Given the description of an element on the screen output the (x, y) to click on. 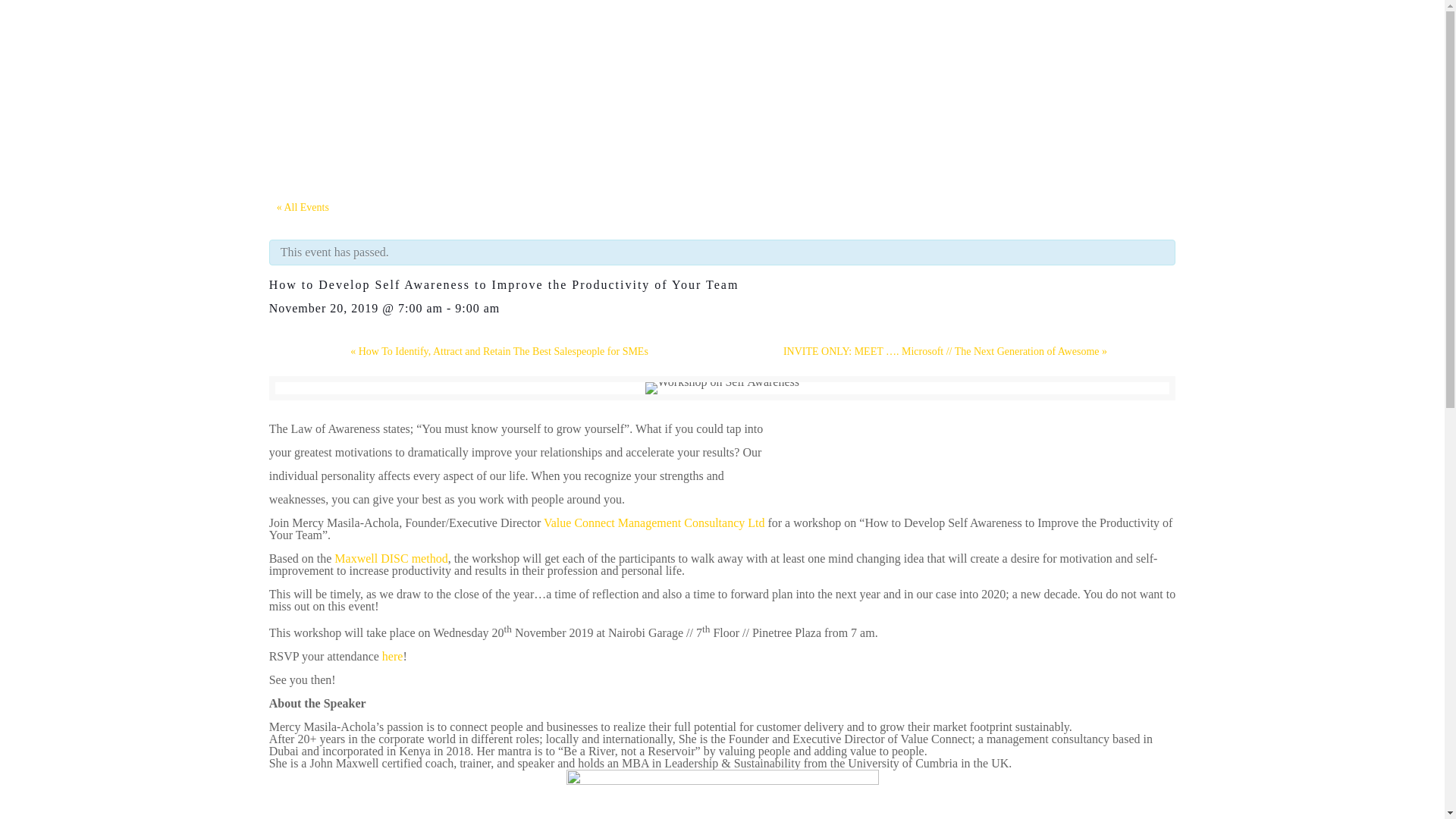
Maxwell DISC method (390, 558)
Value Connect Management Consultancy Ltd (652, 522)
here (392, 656)
